Given the description of an element on the screen output the (x, y) to click on. 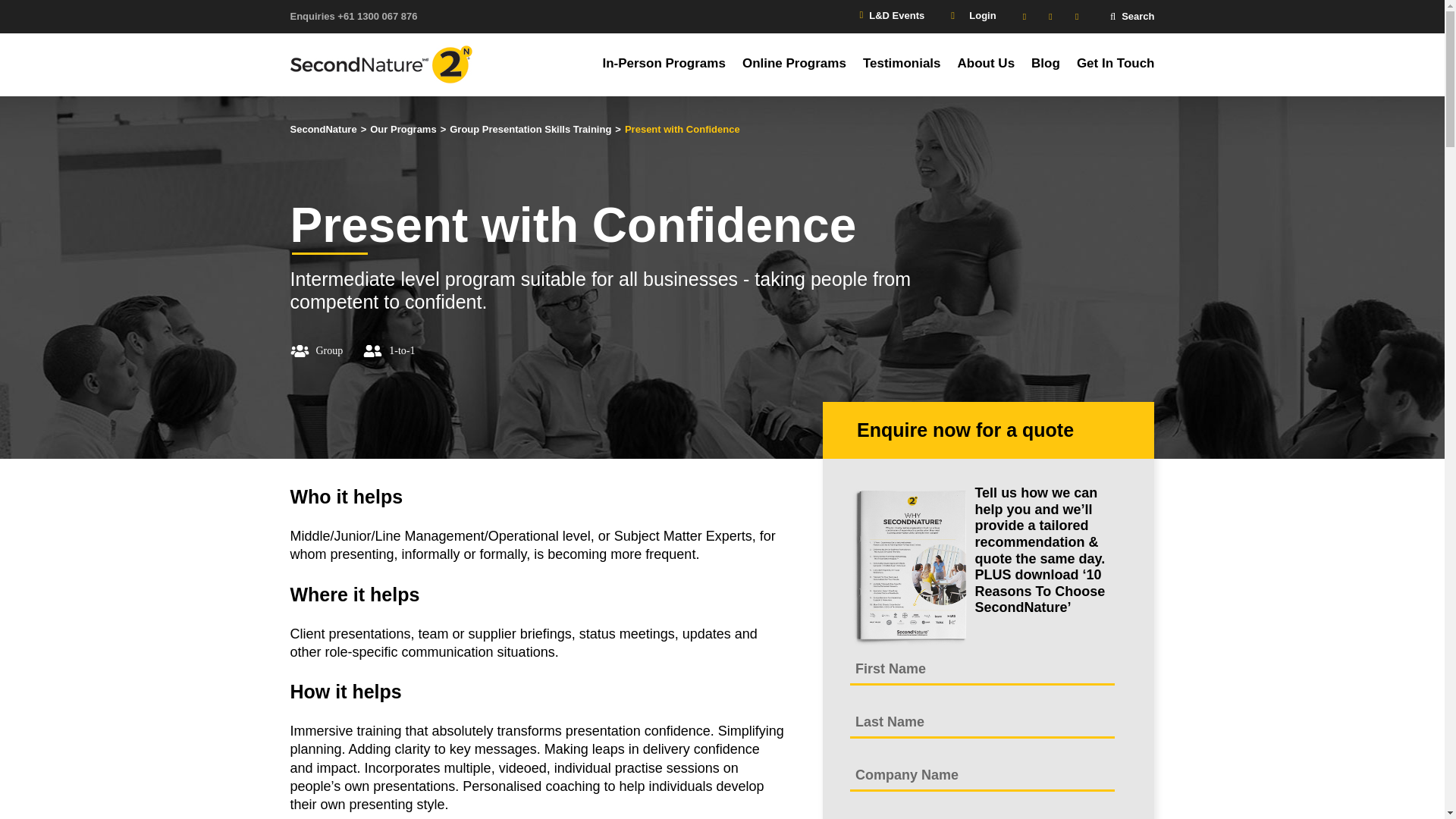
Testimonials (901, 63)
Facebook (1052, 16)
Online Programs (793, 63)
Group Presentation Skills Training (530, 129)
secondnature - Home (322, 129)
About Us (986, 63)
secondnature - Home (386, 64)
Client Login (971, 15)
Call (352, 16)
LinkedIn (1026, 16)
